Given the description of an element on the screen output the (x, y) to click on. 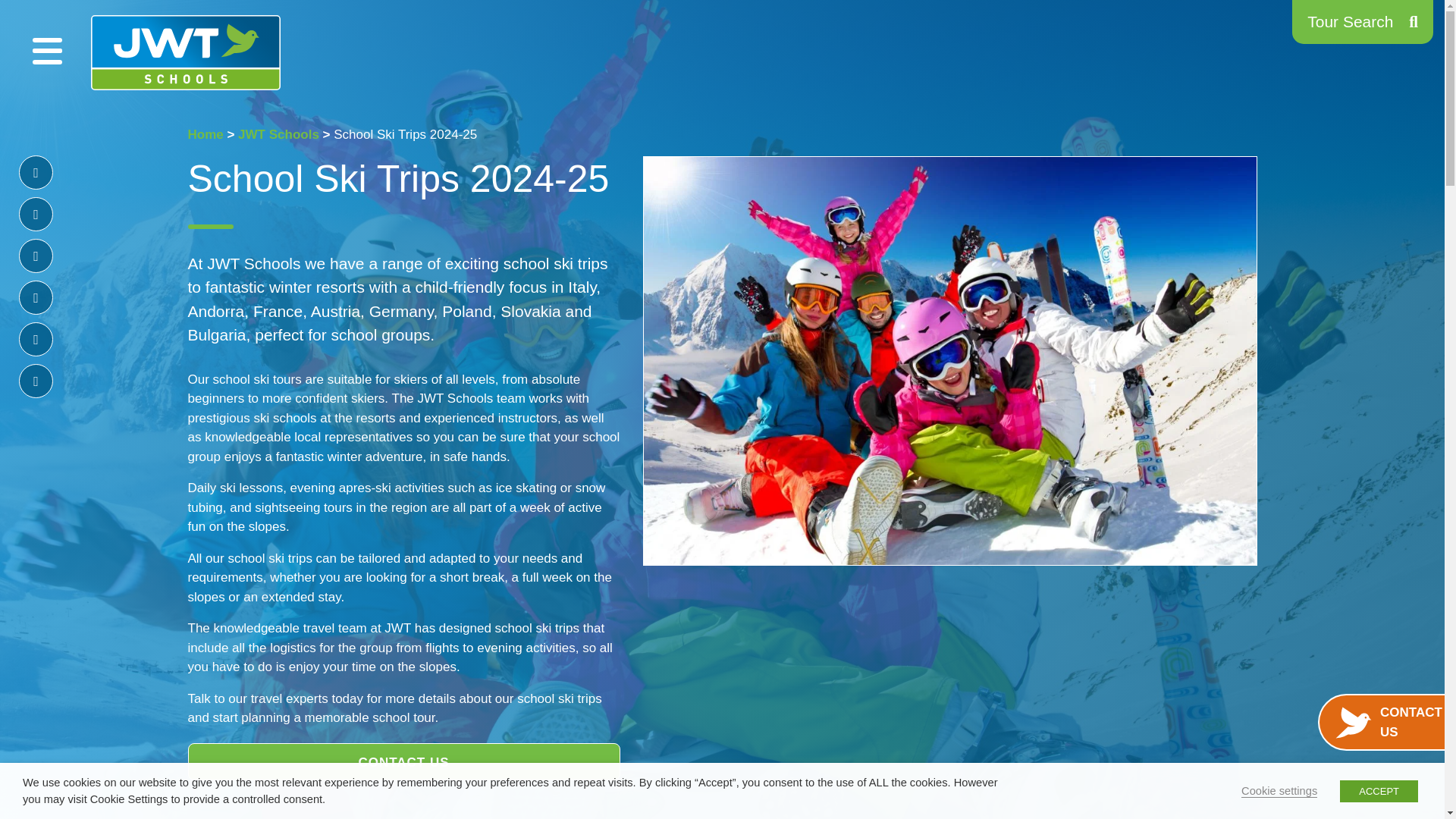
Link to JWT Travel YouTube Page (35, 380)
Link to JWT Travel Instagram Page (35, 255)
Link to JWT Travel Facebook Page (35, 172)
Tour Search (1362, 22)
Link to JWT Travel Twitter Page (35, 213)
Link to JWT Travel LinkedIn Page (35, 339)
Link to JWT Travel Pinterest Page (35, 297)
JWT Travel logo (185, 52)
